Given the description of an element on the screen output the (x, y) to click on. 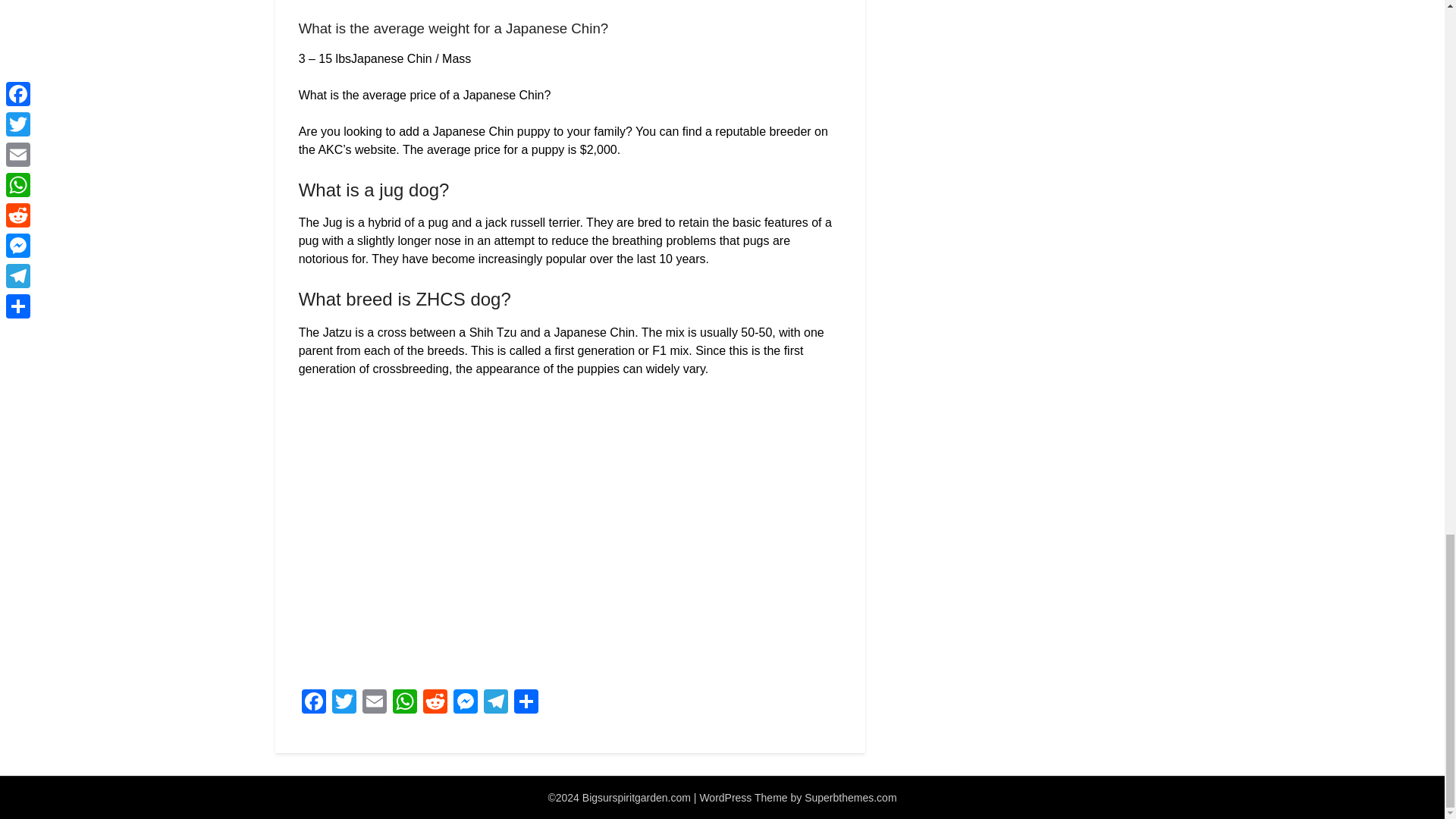
Facebook (313, 703)
Email (374, 703)
Superbthemes.com (850, 797)
Telegram (495, 703)
Telegram (495, 703)
Reddit (434, 703)
Share (526, 703)
Email (374, 703)
Facebook (313, 703)
WhatsApp (405, 703)
Reddit (434, 703)
Twitter (344, 703)
Messenger (464, 703)
Messenger (464, 703)
Twitter (344, 703)
